Given the description of an element on the screen output the (x, y) to click on. 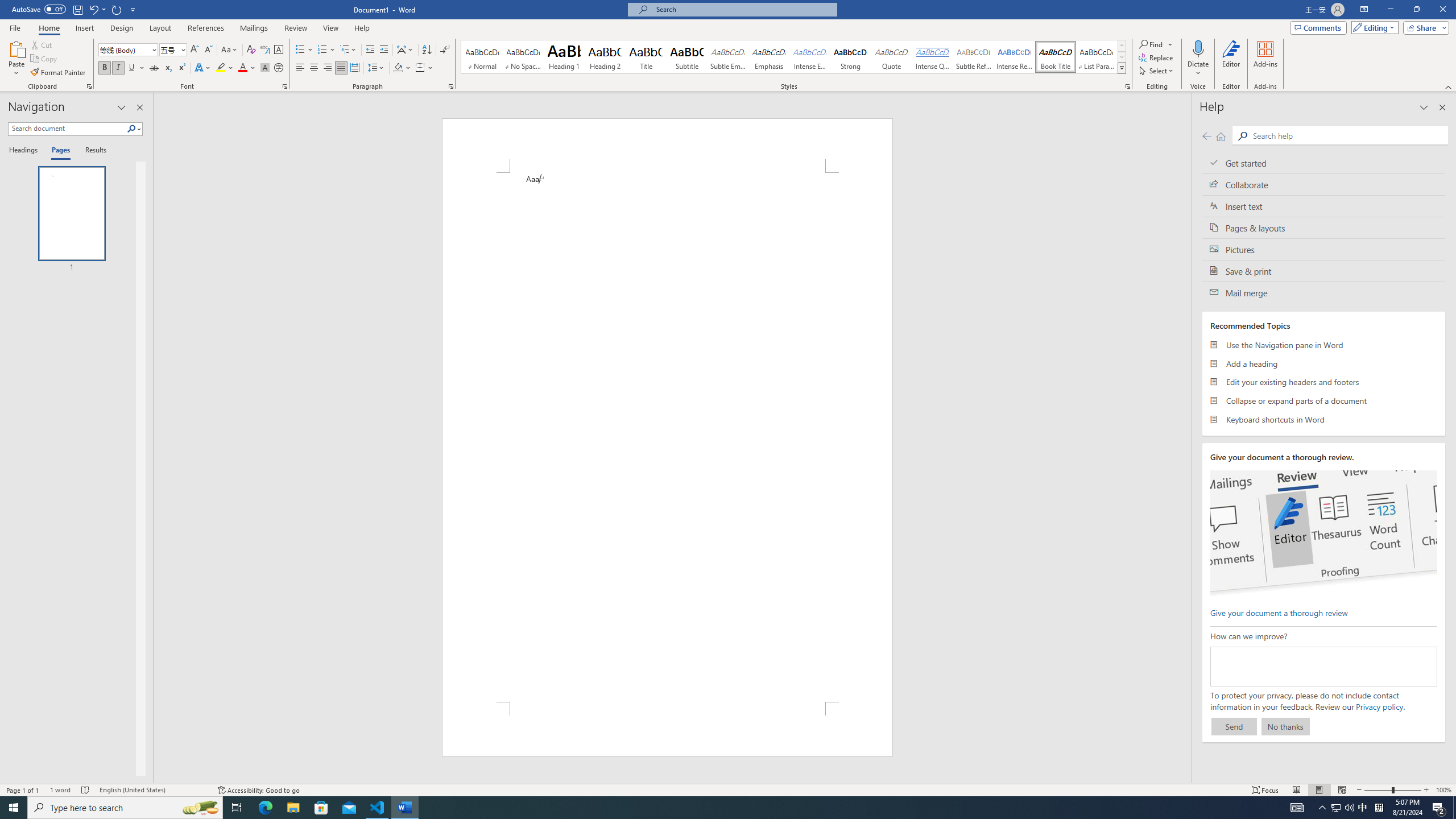
Spelling and Grammar Check No Errors (85, 790)
